Given the description of an element on the screen output the (x, y) to click on. 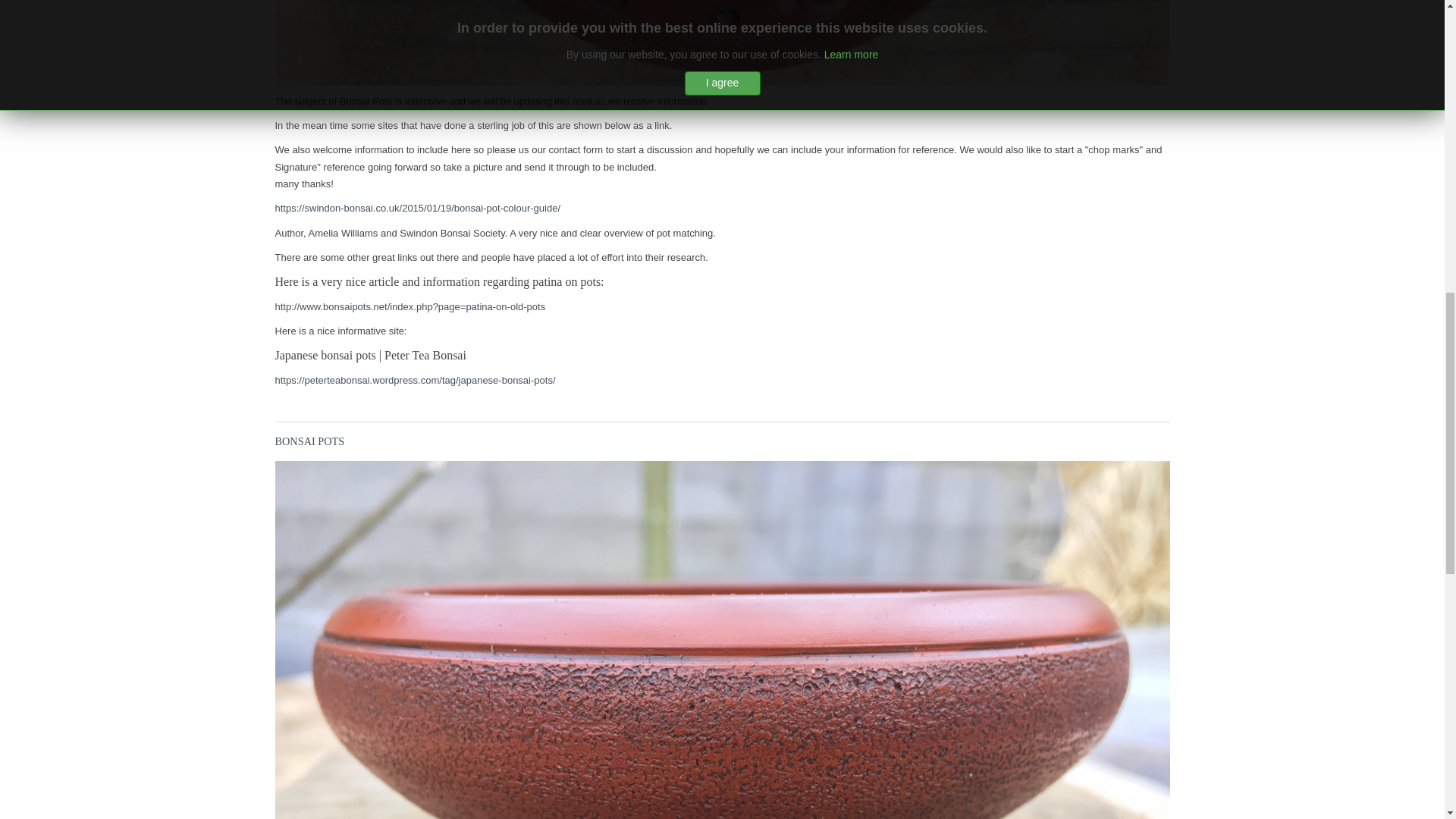
BONSAI POTS (309, 440)
